Given the description of an element on the screen output the (x, y) to click on. 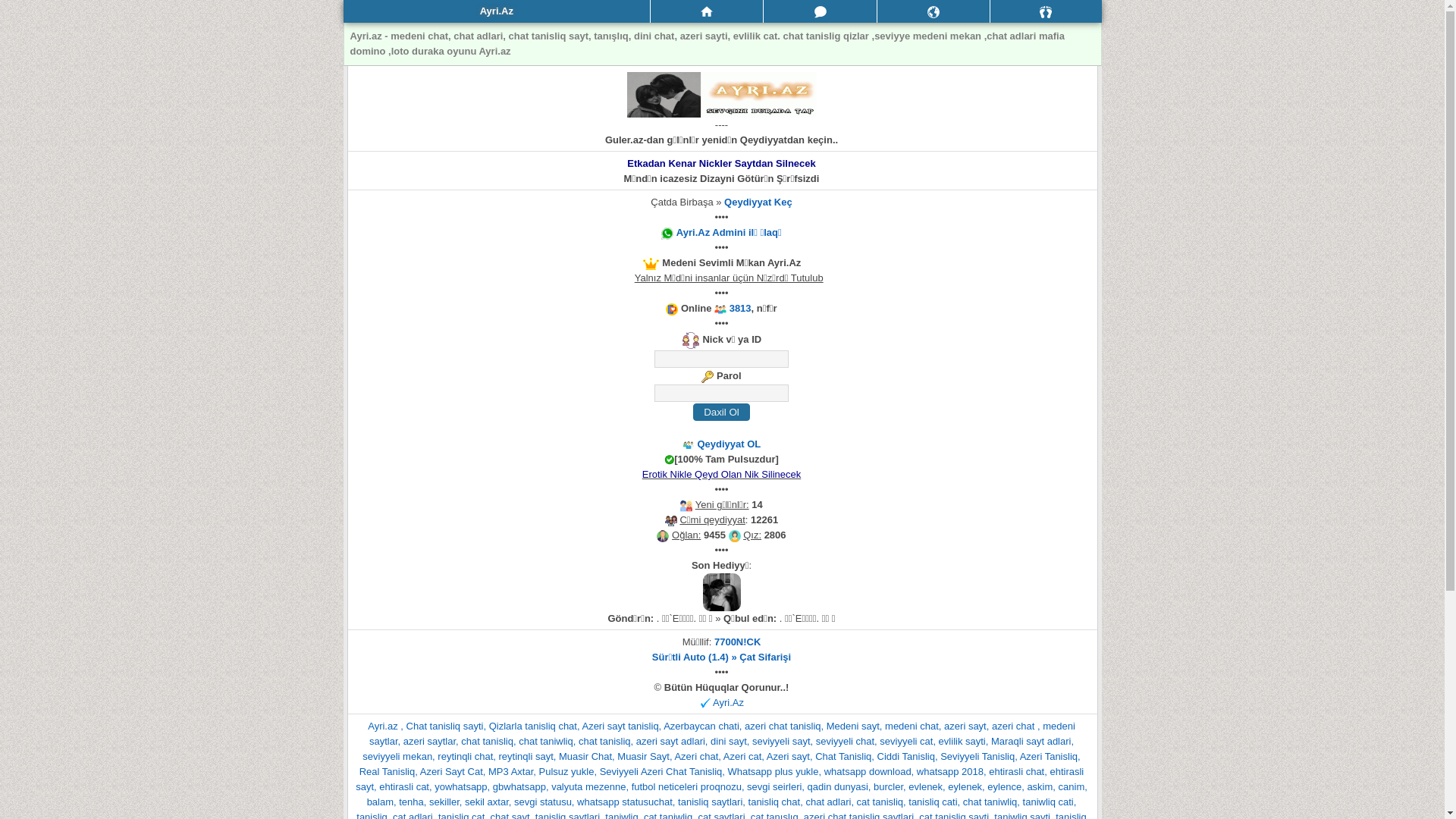
3813 Element type: text (740, 307)
Qeydiyyat OL Element type: text (728, 443)
7700N!CK Element type: text (737, 641)
nick Element type: hover (721, 358)
Parol Element type: hover (721, 392)
Qonaqlar Element type: hover (1045, 11)
Bildirisler Element type: hover (933, 11)
Daxil Ol Element type: text (721, 411)
Mesajlar Element type: hover (819, 11)
